Given the description of an element on the screen output the (x, y) to click on. 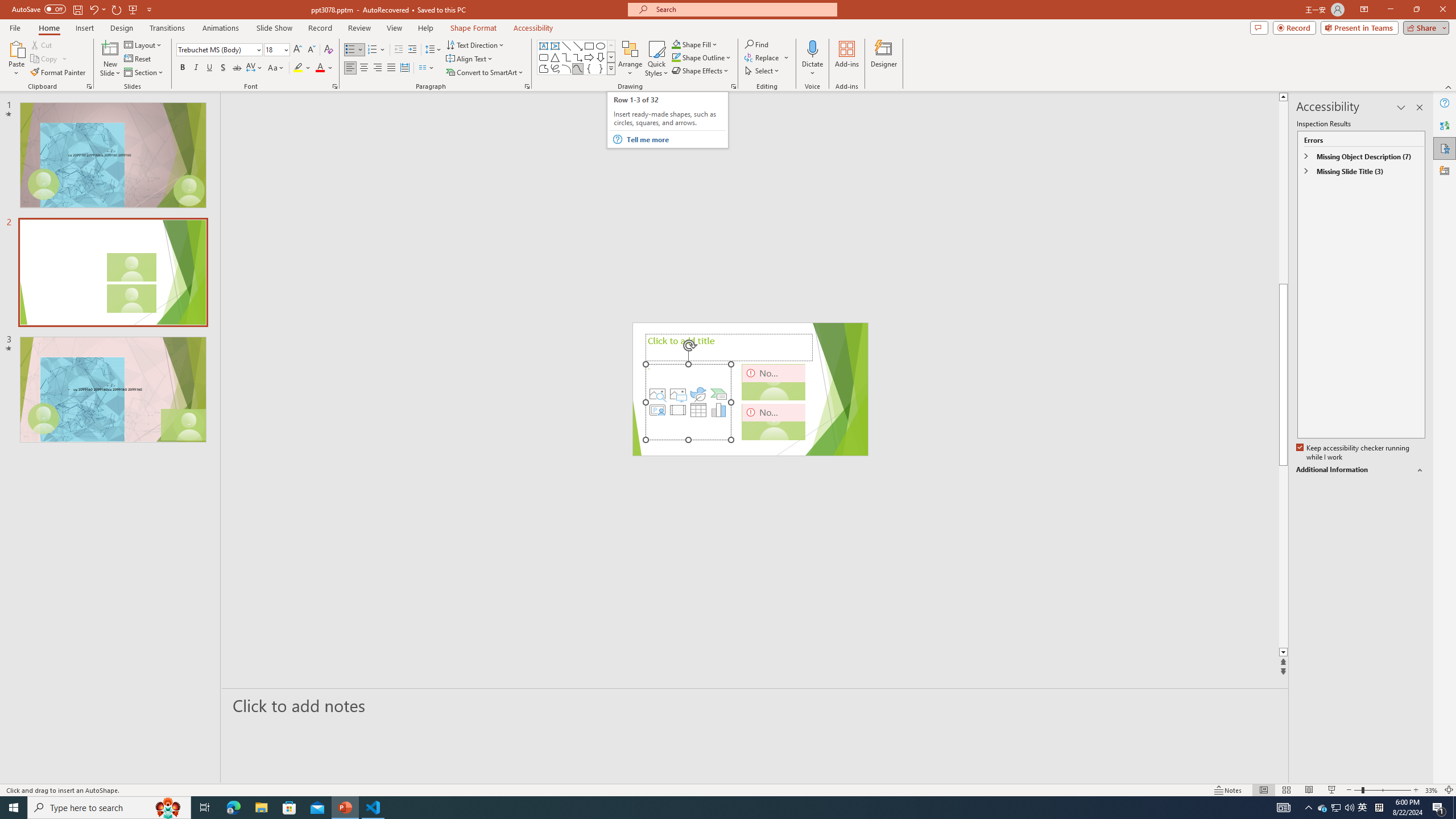
Camera 5, No camera detected. (773, 382)
Insert Chart (719, 409)
